Given the description of an element on the screen output the (x, y) to click on. 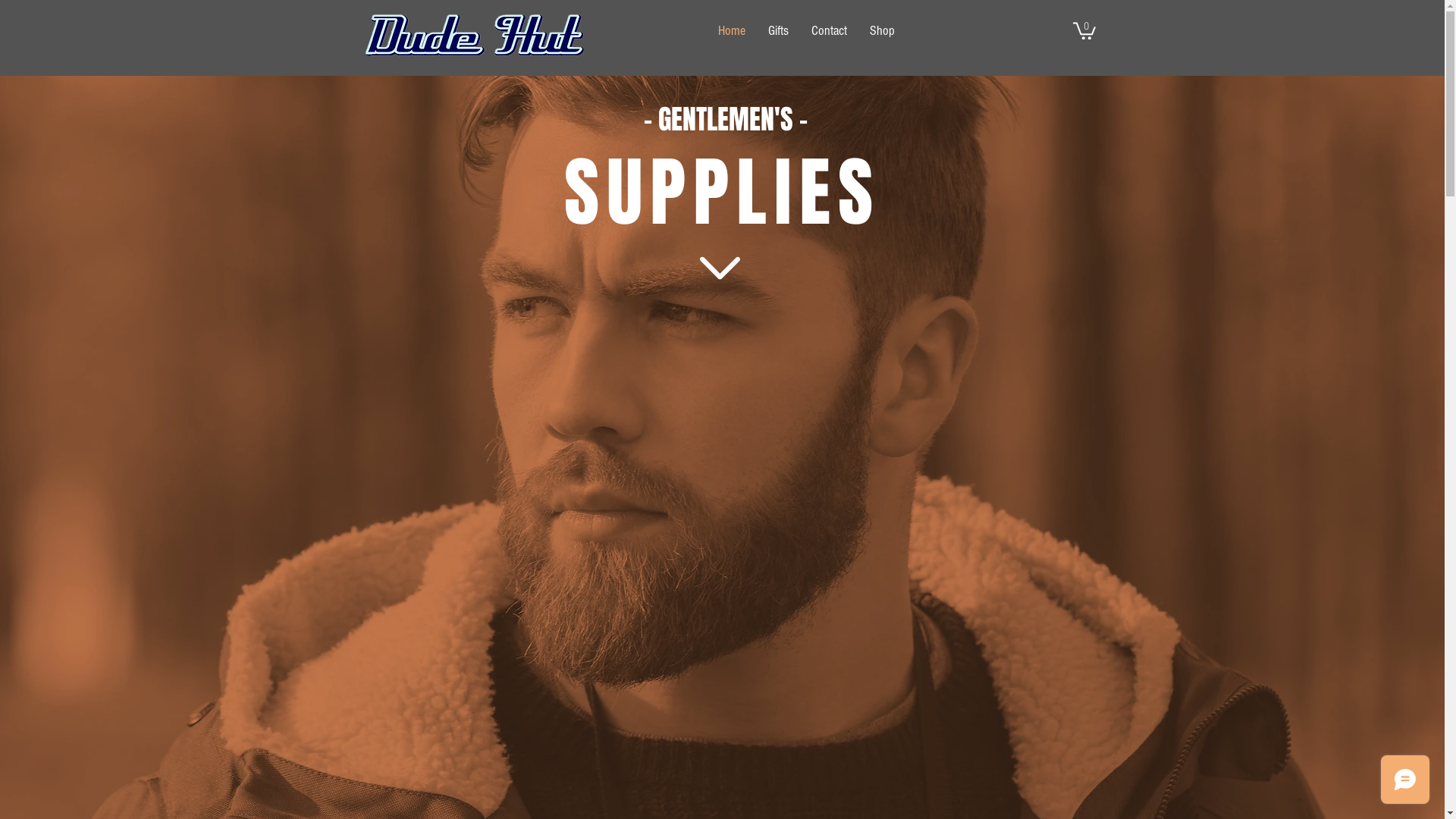
TWIPLA (Visitor Analytics) Element type: hover (958, 679)
Shop Element type: text (882, 31)
Gifts Element type: text (778, 31)
0 Element type: text (1083, 29)
Home Element type: text (731, 31)
Contact Element type: text (829, 31)
